Given the description of an element on the screen output the (x, y) to click on. 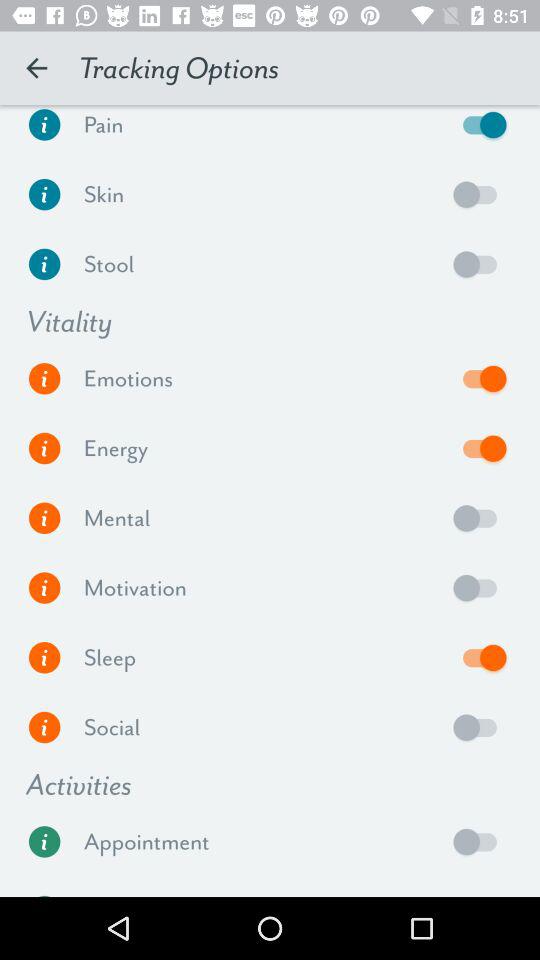
see more details (44, 587)
